Given the description of an element on the screen output the (x, y) to click on. 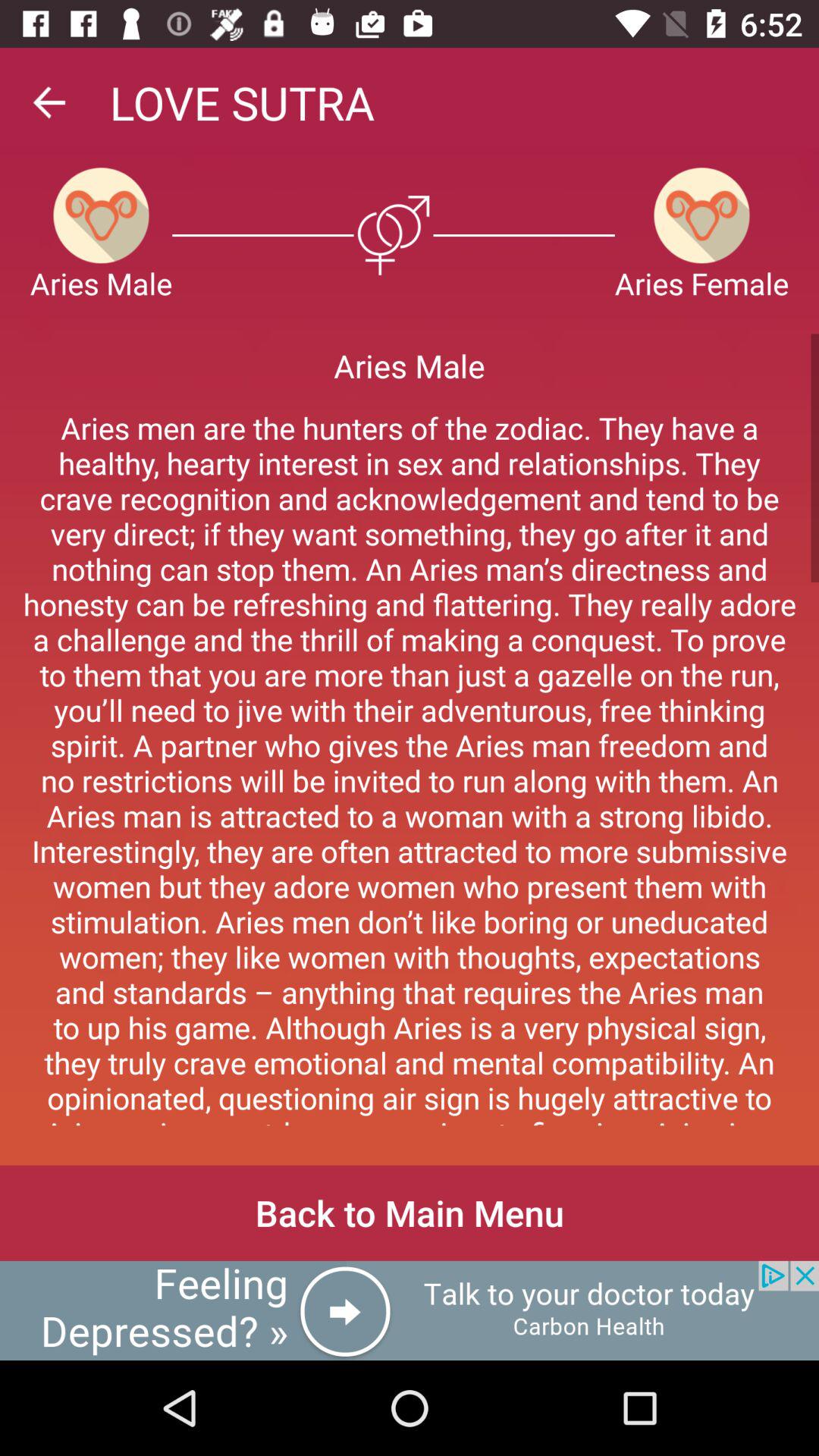
go to advertisement website (409, 1310)
